Given the description of an element on the screen output the (x, y) to click on. 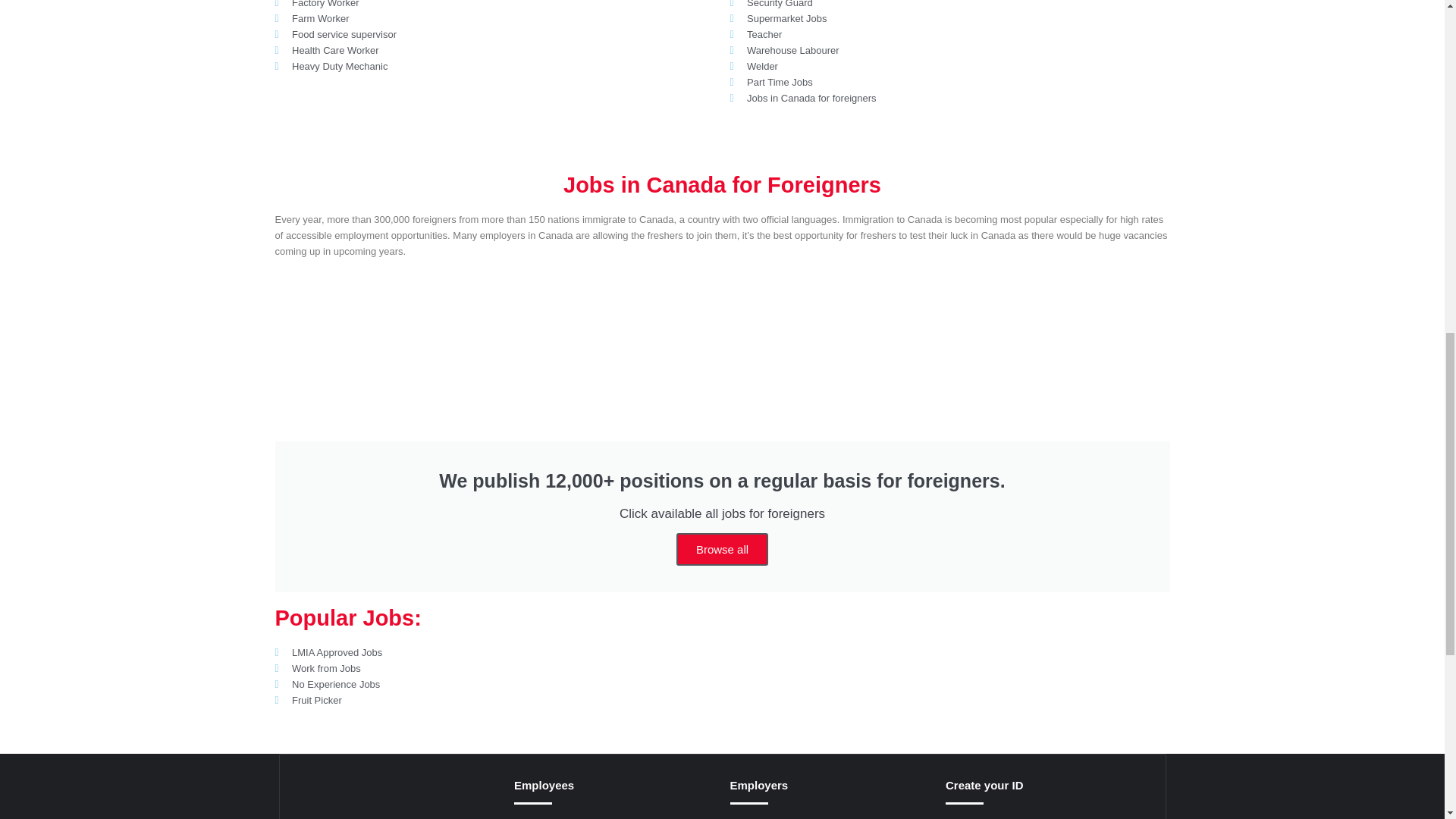
Factory Worker (494, 5)
Food service supervisor (494, 34)
Health Care Worker (494, 50)
Heavy Duty Mechanic (494, 66)
Farm Worker (494, 18)
